Given the description of an element on the screen output the (x, y) to click on. 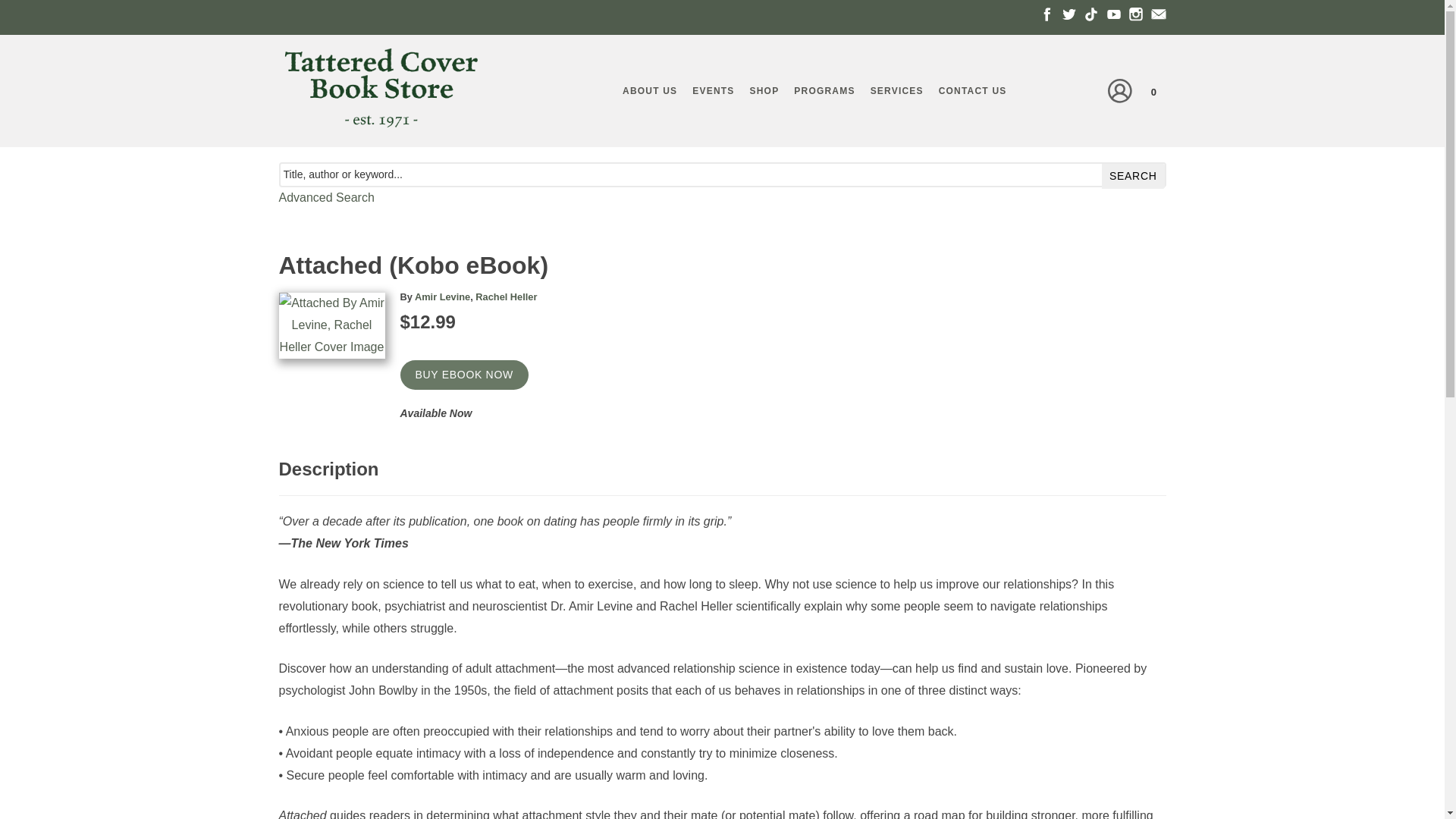
PROGRAMS (823, 90)
SHOP (764, 90)
Title, author or keyword... (722, 174)
ABOUT US (649, 90)
search (1133, 176)
Buy eBook Now (464, 374)
EVENTS (712, 90)
Home (381, 95)
